Given the description of an element on the screen output the (x, y) to click on. 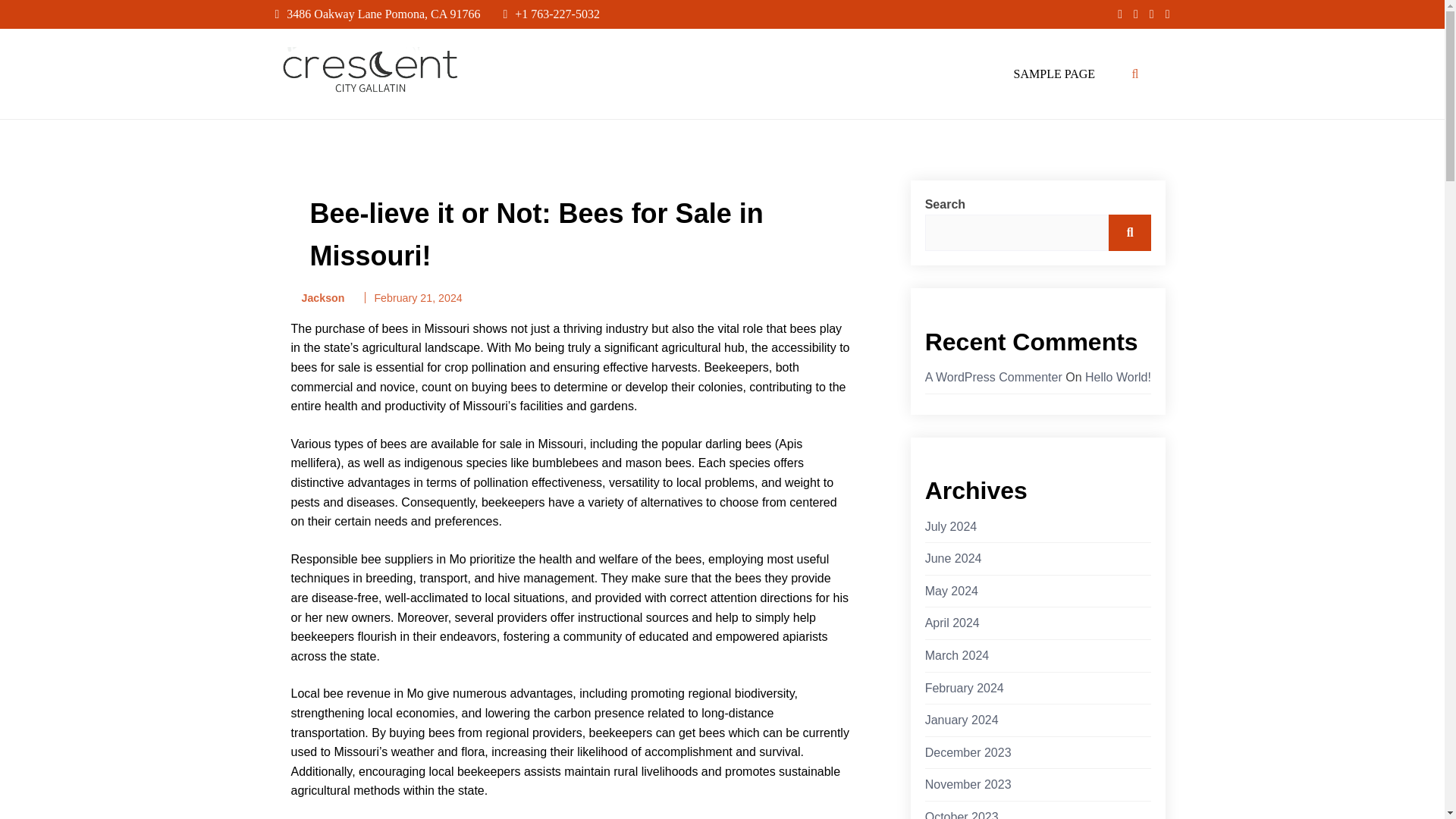
Search (1129, 232)
Jackson (318, 298)
crescent city gallatin (341, 112)
A WordPress Commenter (993, 377)
February 21, 2024 (417, 297)
SAMPLE PAGE (1054, 73)
